Given the description of an element on the screen output the (x, y) to click on. 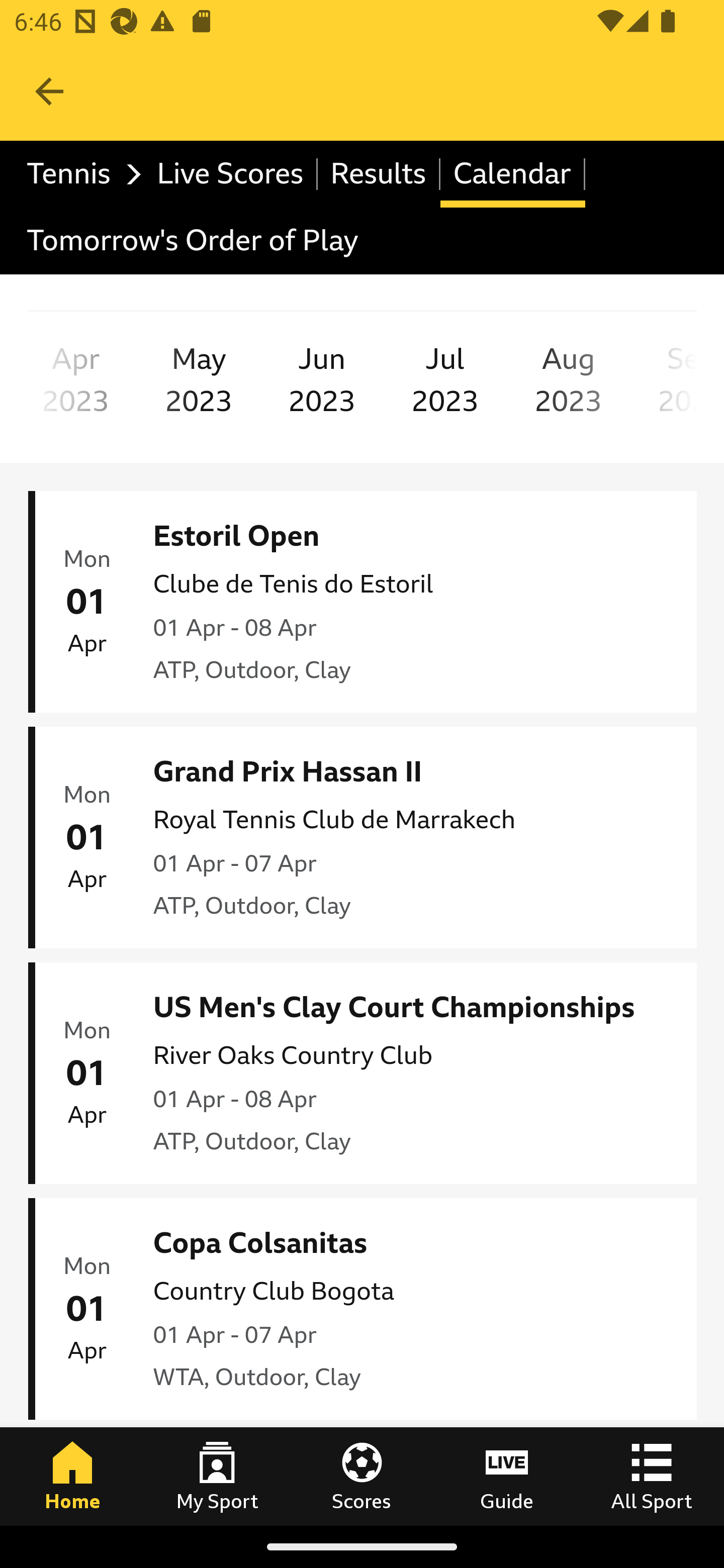
Navigate up (49, 91)
My Sport (216, 1475)
Scores (361, 1475)
Guide (506, 1475)
All Sport (651, 1475)
